Given the description of an element on the screen output the (x, y) to click on. 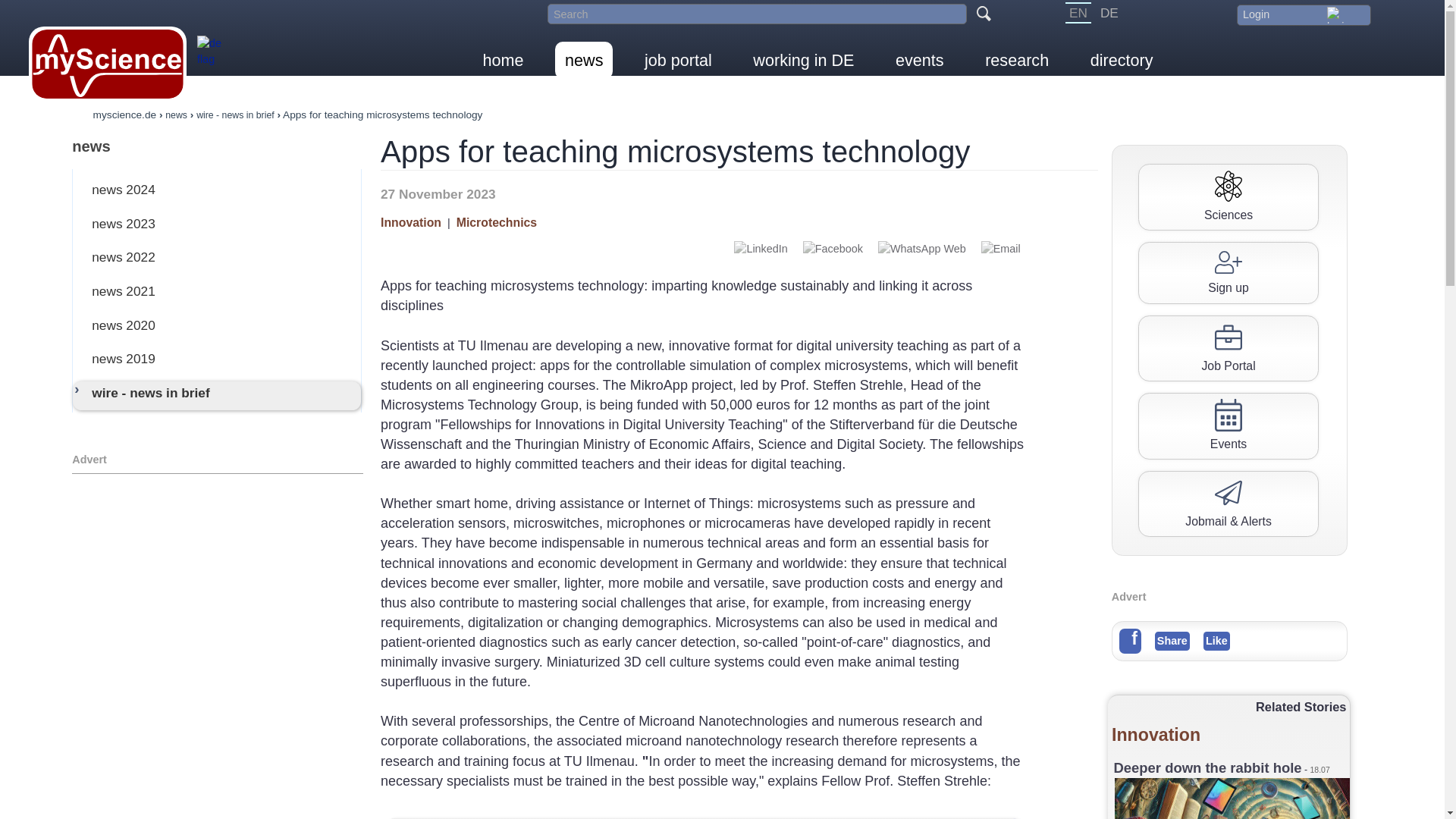
English (1077, 12)
Login (1303, 14)
job portal (678, 59)
About myscience.de (213, 59)
Share on LinkedIn (760, 248)
Deutsch (1109, 12)
research (1016, 59)
Search in myscience.de (756, 14)
 news  (216, 145)
myScience Home (107, 63)
news (583, 59)
DE (1109, 12)
Share on WhatsApp Web (922, 248)
EN (1077, 12)
home (503, 59)
